Given the description of an element on the screen output the (x, y) to click on. 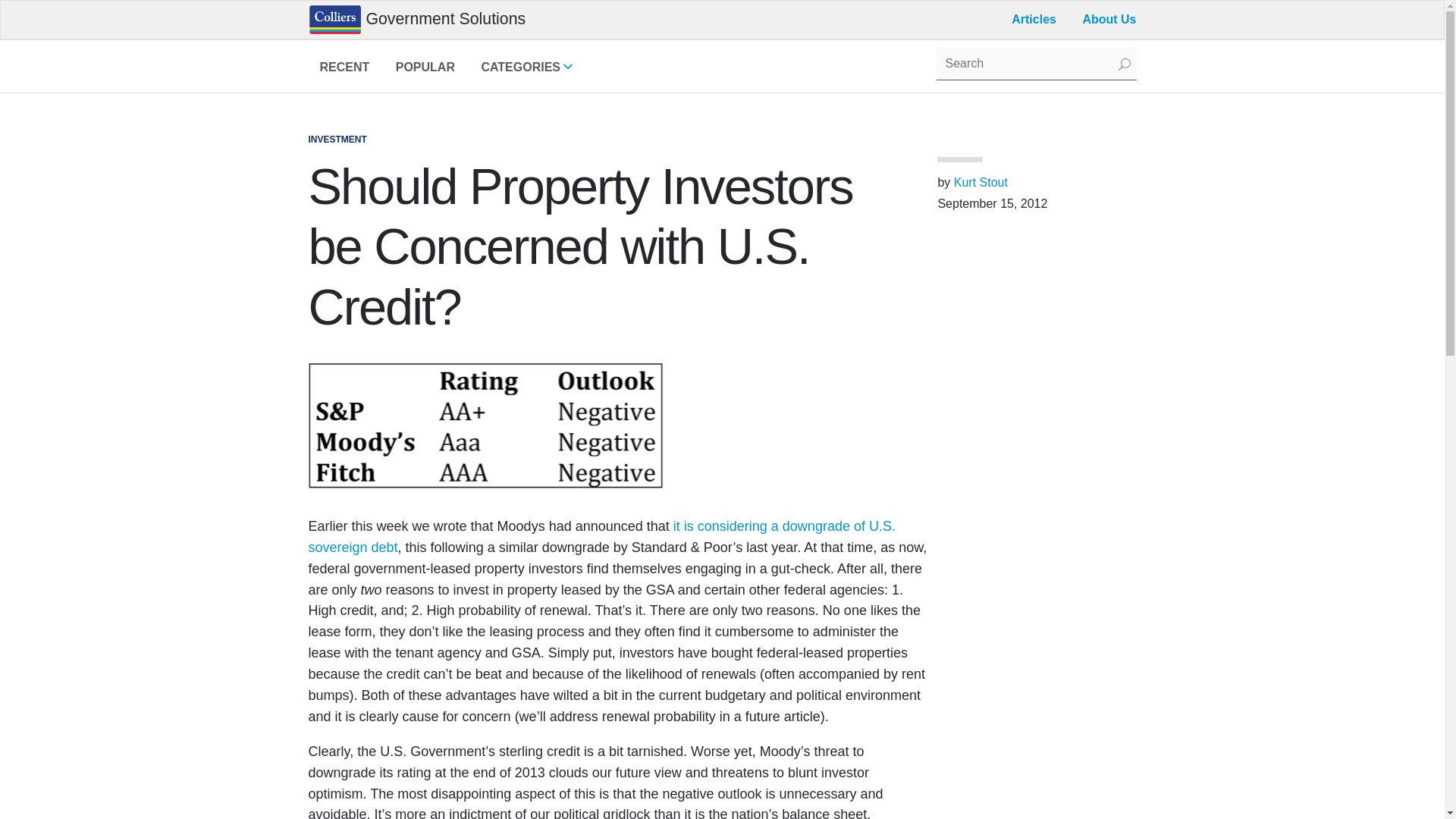
More Trouble with U.S. Debt (424, 69)
U.S. Credit Ratings (601, 536)
Search for: (550, 432)
Articles (525, 69)
About Us (1035, 63)
Government Solutions (1034, 19)
